Given the description of an element on the screen output the (x, y) to click on. 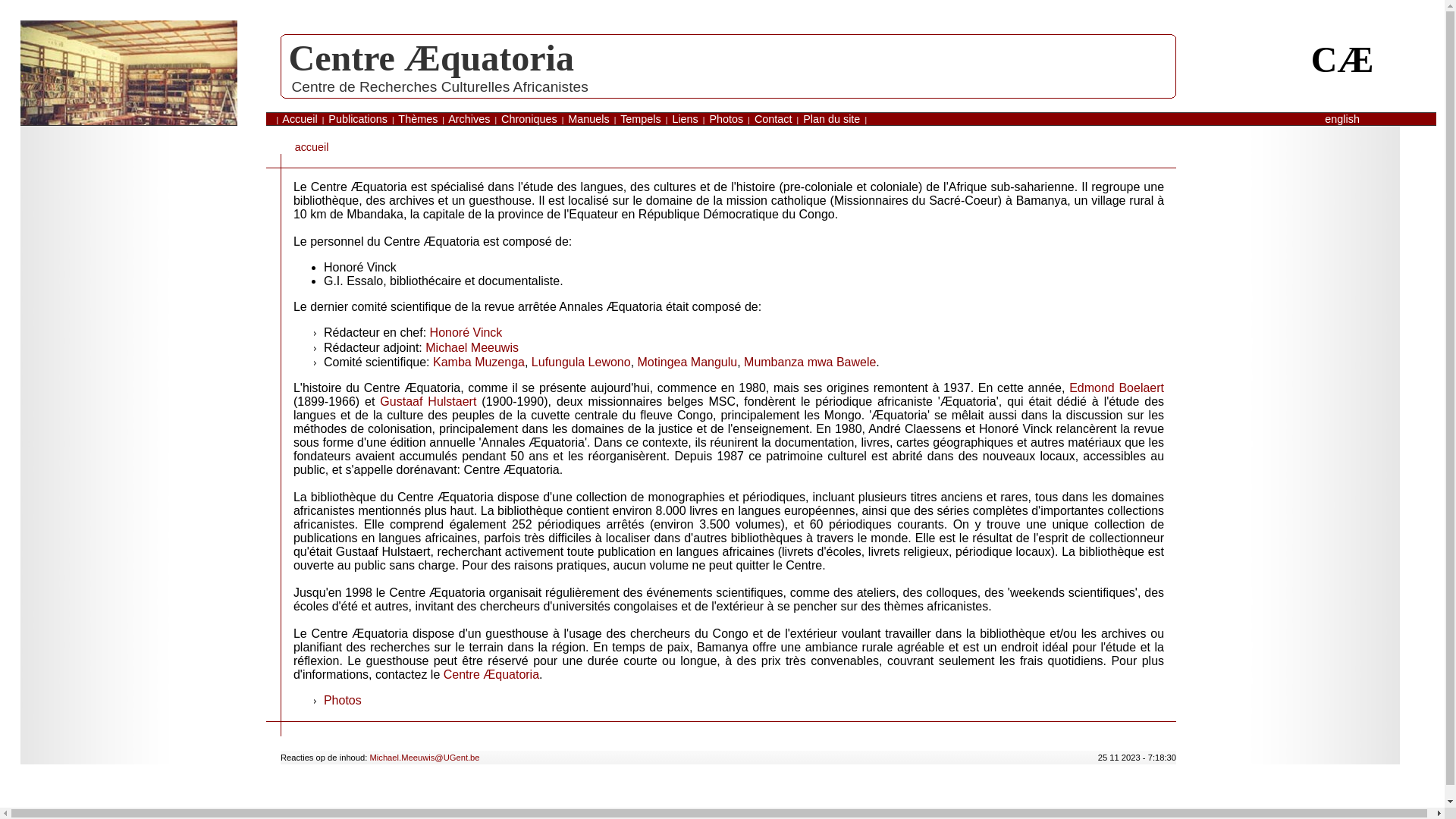
Manuels Element type: text (587, 118)
Archives Element type: text (468, 118)
english Element type: text (1341, 118)
Centre de Recherches Culturelles Africanistes Element type: text (439, 86)
Contact Element type: text (773, 118)
Liens Element type: text (684, 118)
Mumbanza mwa Bawele Element type: text (809, 361)
Kamba Muzenga Element type: text (478, 361)
accueil Element type: text (311, 147)
Chroniques Element type: text (529, 118)
Accueil Element type: text (299, 118)
Motingea Mangulu Element type: text (687, 361)
Plan du site Element type: text (831, 118)
Photos Element type: text (342, 699)
Publications Element type: text (357, 118)
Michael Meeuwis Element type: text (471, 347)
Edmond Boelaert Element type: text (1116, 387)
Gustaaf Hulstaert Element type: text (427, 401)
Tempels Element type: text (640, 118)
Lufungula Lewono Element type: text (580, 361)
Photos Element type: text (726, 118)
Michael.Meeuwis@UGent.be Element type: text (425, 757)
